Given the description of an element on the screen output the (x, y) to click on. 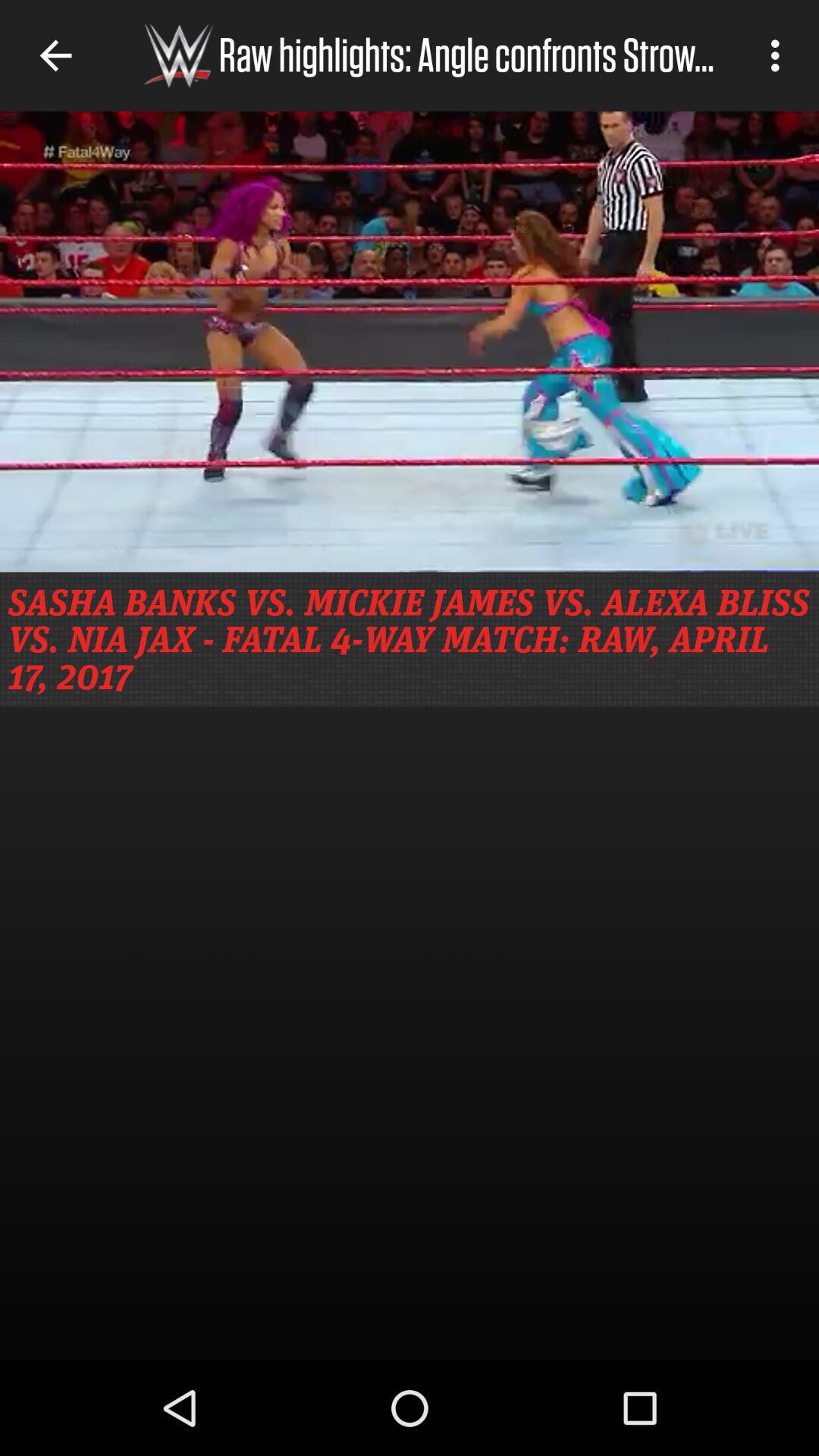
tap the icon at the center (409, 639)
